Given the description of an element on the screen output the (x, y) to click on. 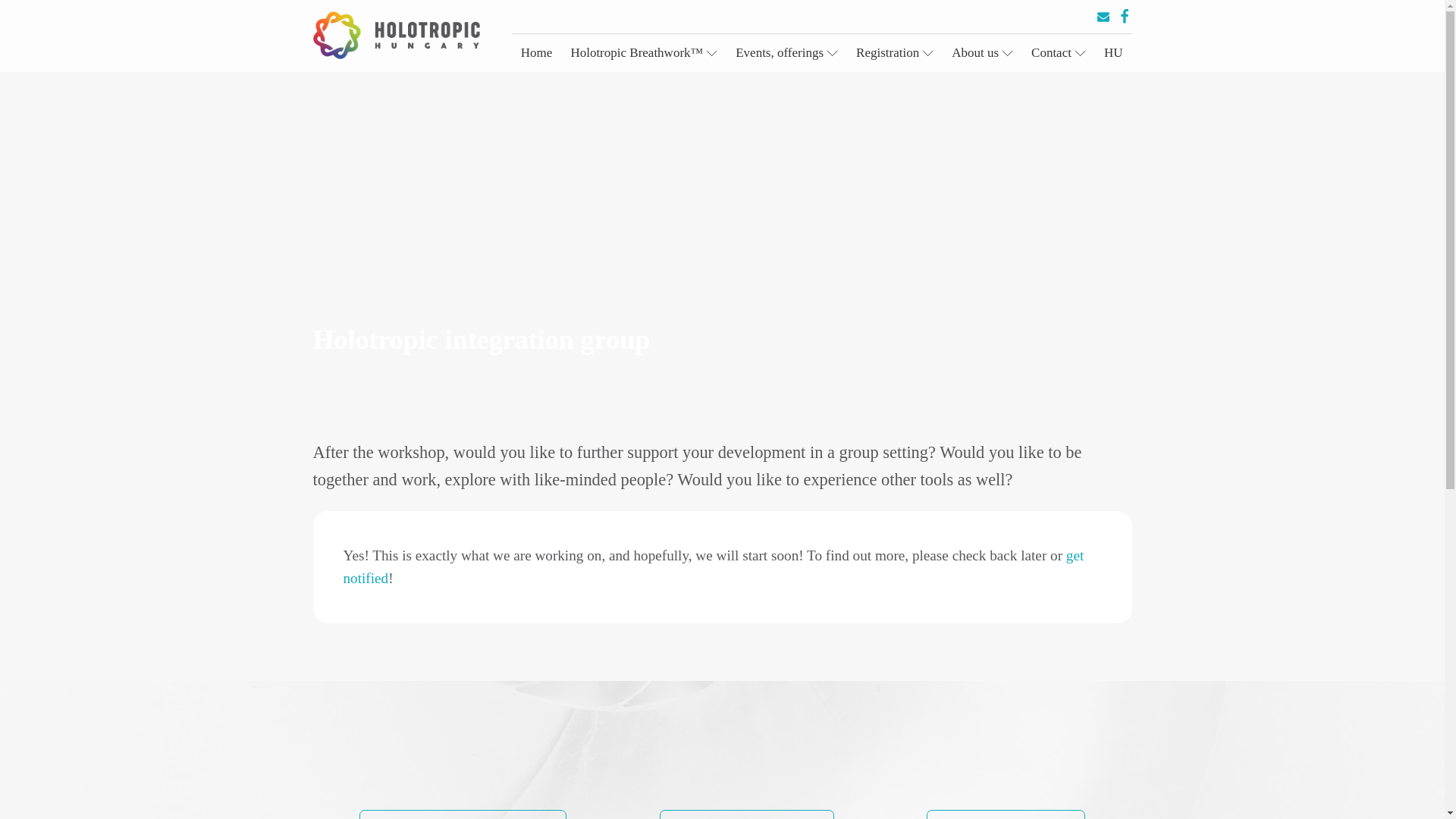
GUIDING PRINCIPLES (463, 814)
Events, offerings (786, 53)
About us (982, 53)
get notified (712, 567)
Registration (894, 53)
FACILITATORS (1005, 814)
Contact (1058, 53)
Home (537, 53)
ASK A QUESTION (746, 814)
HU (1113, 53)
